Given the description of an element on the screen output the (x, y) to click on. 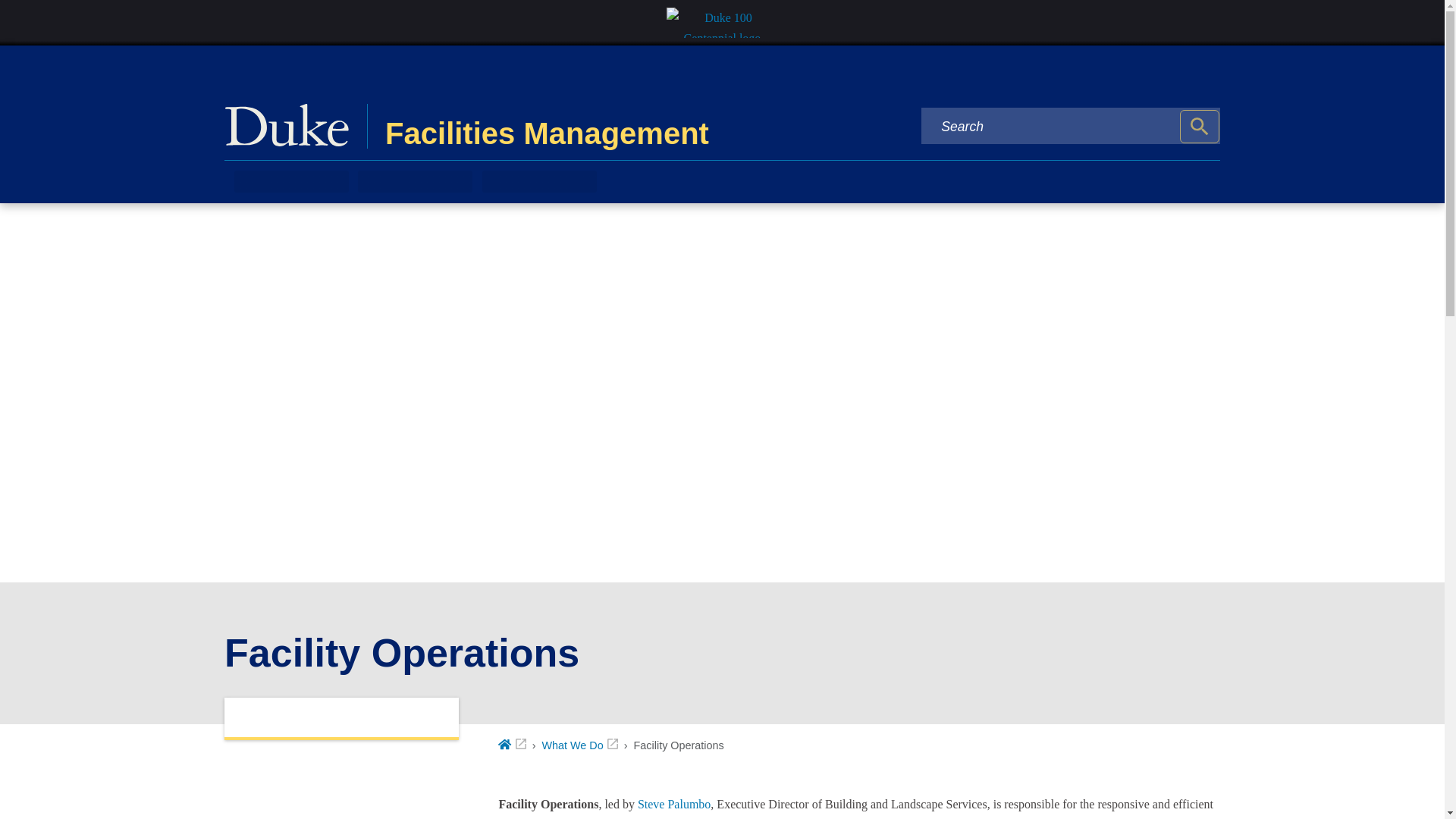
What We Do (579, 745)
Facilities Management (547, 126)
Home (511, 745)
Steve Palumbo (673, 803)
